Given the description of an element on the screen output the (x, y) to click on. 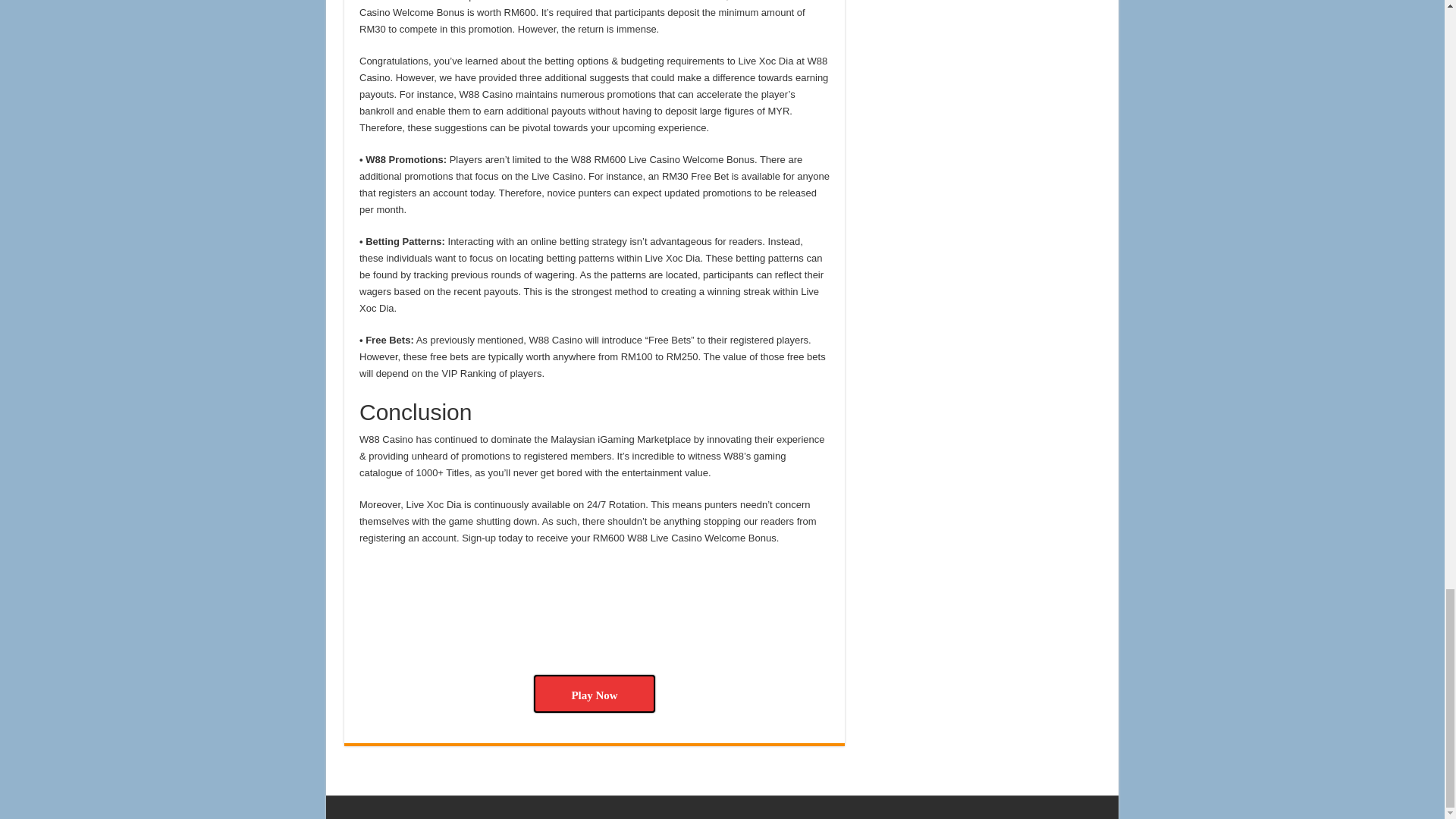
Play Now (594, 693)
